Given the description of an element on the screen output the (x, y) to click on. 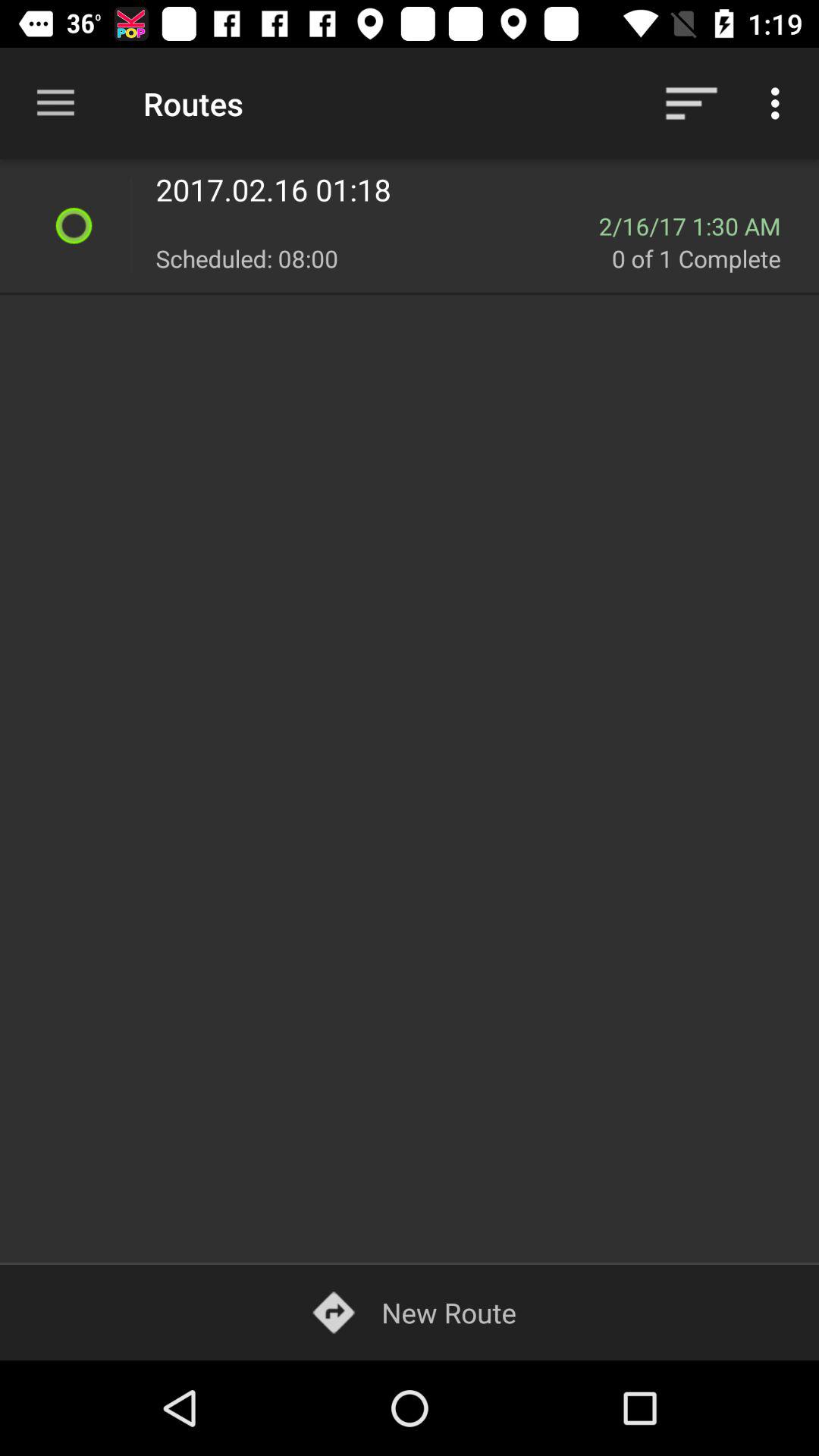
flip to the 0 of 1 icon (705, 258)
